Given the description of an element on the screen output the (x, y) to click on. 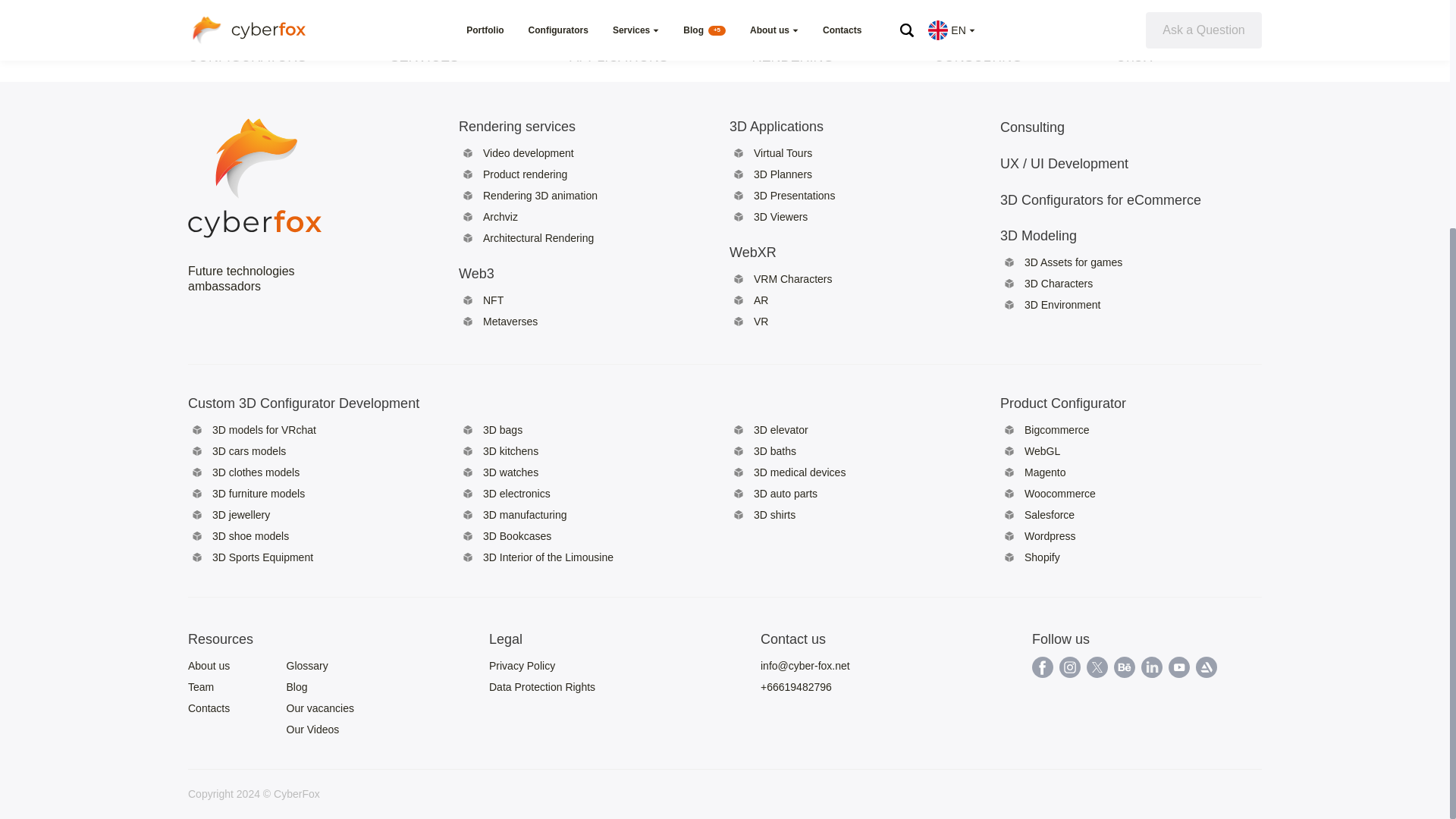
Rendering 3D animation (539, 195)
Architectural Rendering (538, 237)
Archviz (500, 216)
Product rendering (525, 174)
NFT (493, 300)
Video development (528, 152)
CONSULTING (978, 56)
CONFIGURATORS (246, 56)
APPLICATIONS (618, 56)
SERVICES (424, 56)
Web3 (539, 273)
Rendering services (539, 126)
RENDERING (791, 56)
